Given the description of an element on the screen output the (x, y) to click on. 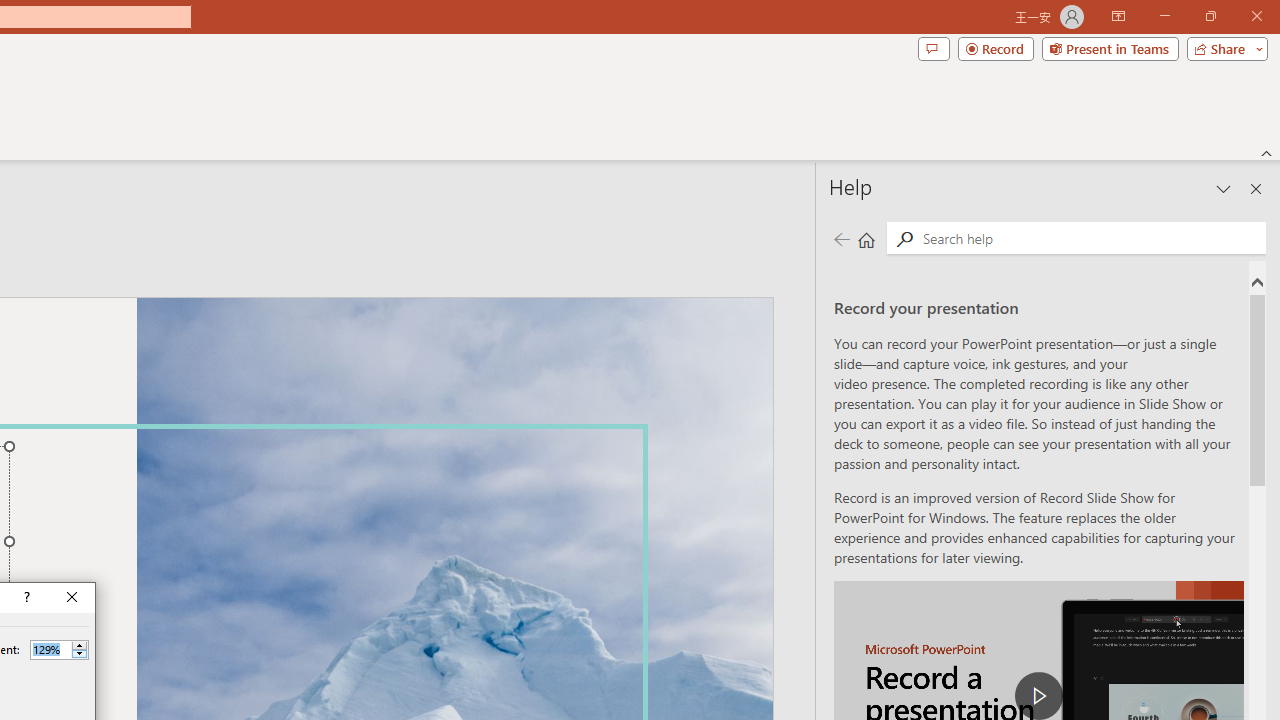
Percent (59, 650)
Percent (50, 649)
Previous page (841, 238)
play Record a Presentation (1038, 695)
